Given the description of an element on the screen output the (x, y) to click on. 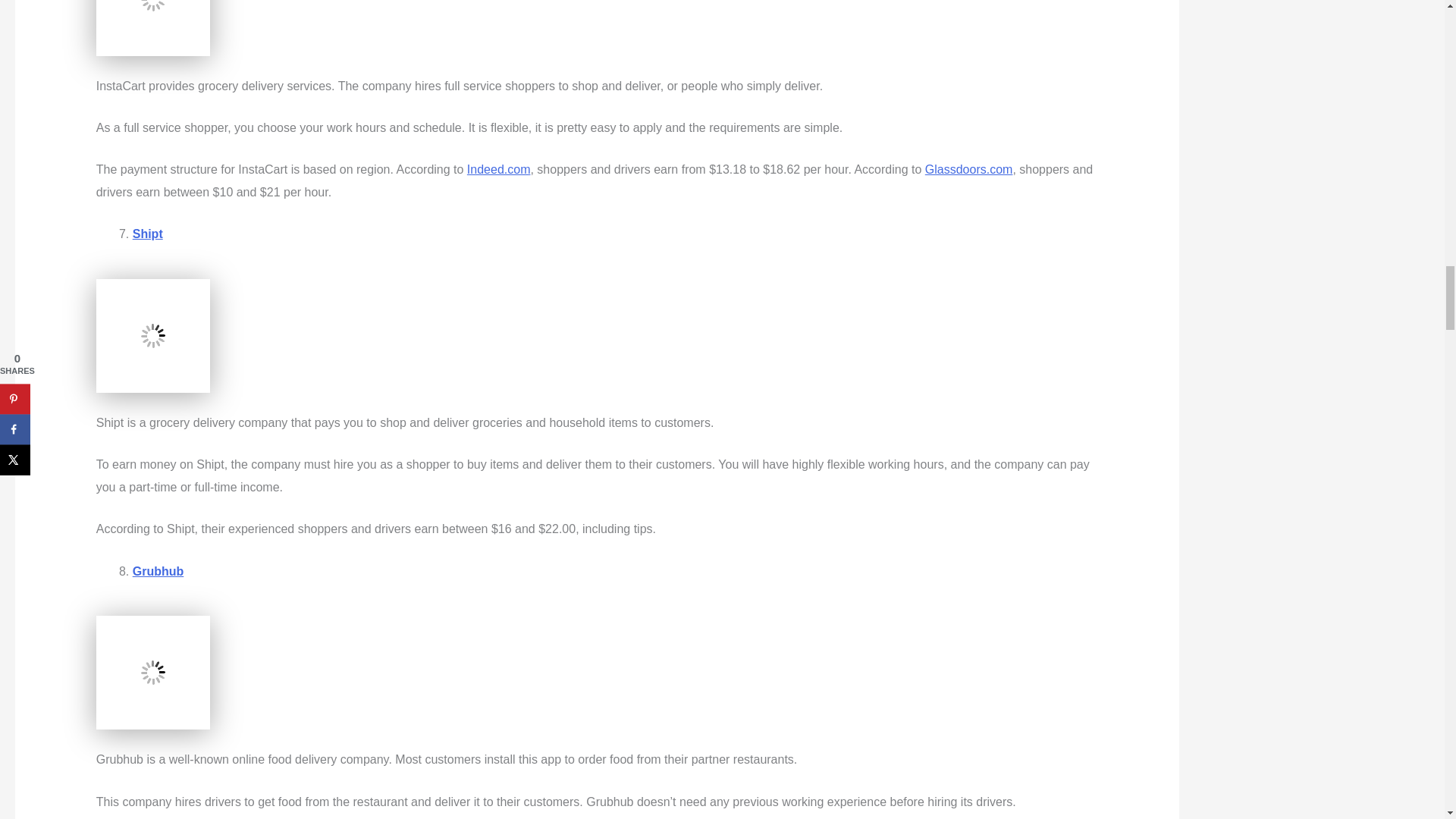
Shipt (147, 233)
Grubhub (158, 571)
Glassdoors.com (968, 169)
Indeed.com (499, 169)
